Given the description of an element on the screen output the (x, y) to click on. 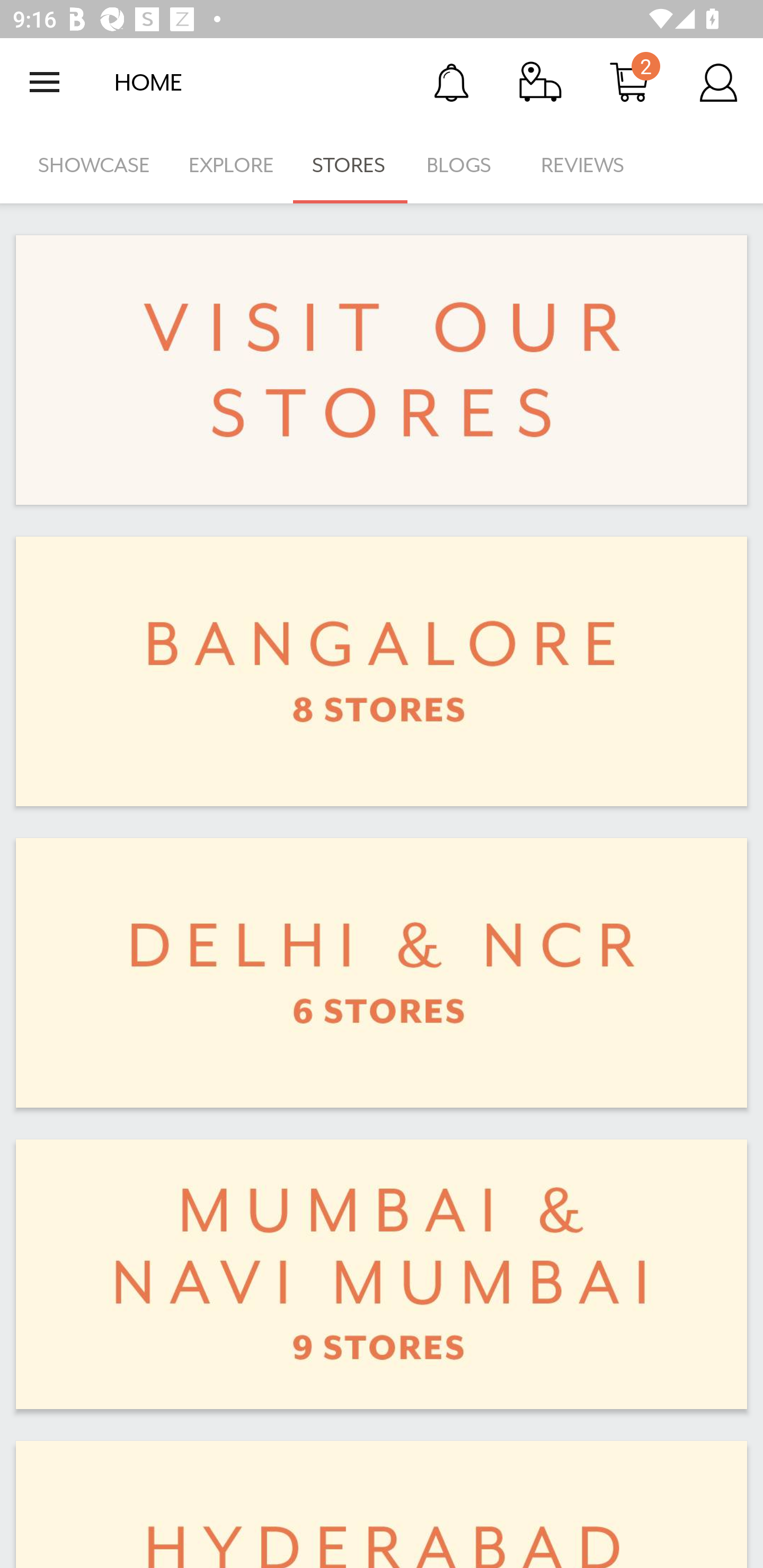
Open navigation drawer (44, 82)
Notification (450, 81)
Track Order (540, 81)
Cart (629, 81)
Account Details (718, 81)
SHOWCASE (94, 165)
EXPLORE (230, 165)
STORES (349, 165)
BLOGS (464, 165)
REVIEWS (582, 165)
